Given the description of an element on the screen output the (x, y) to click on. 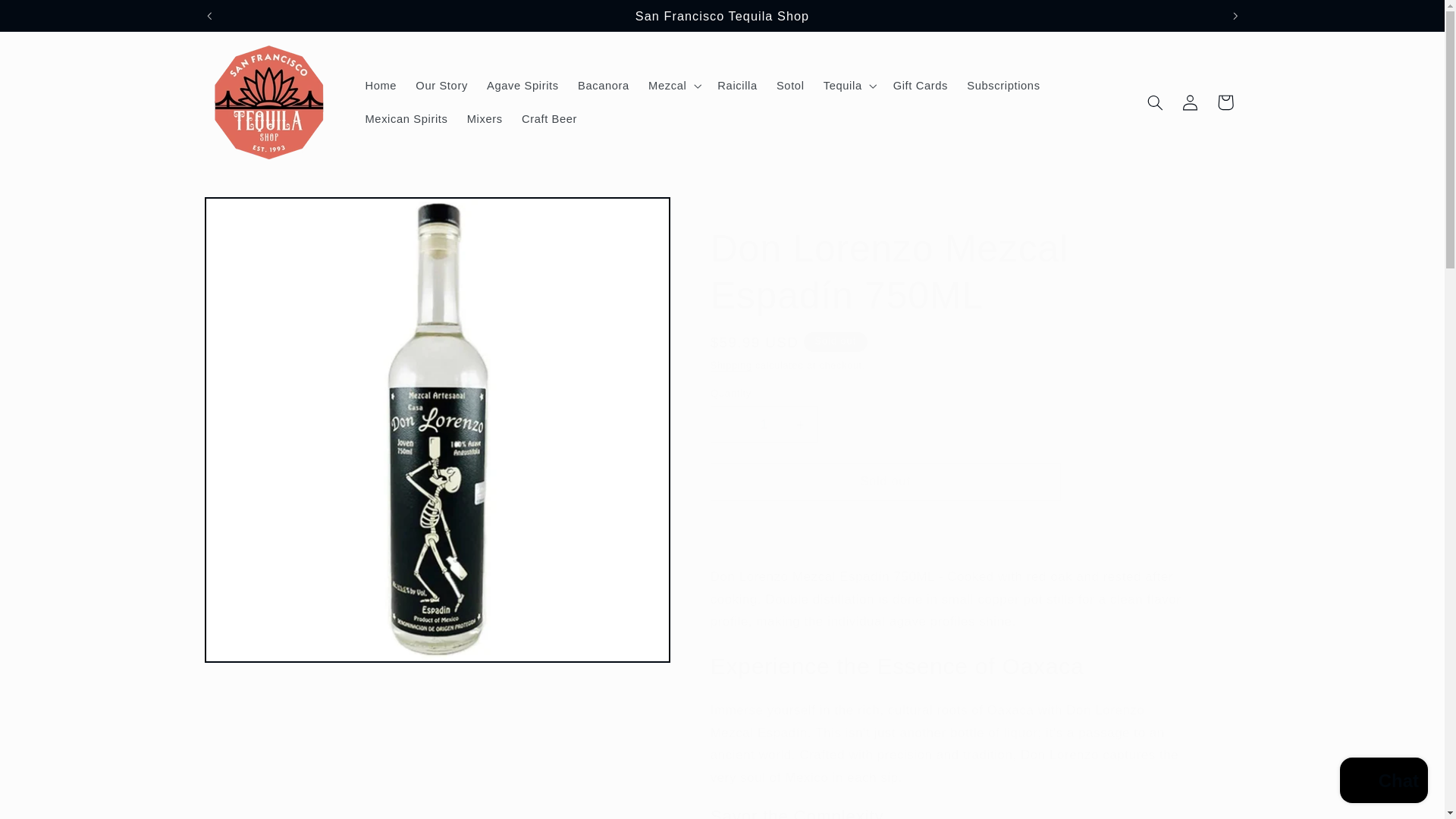
1 (764, 424)
Shopify online store chat (1383, 781)
Skip to content (48, 18)
